Given the description of an element on the screen output the (x, y) to click on. 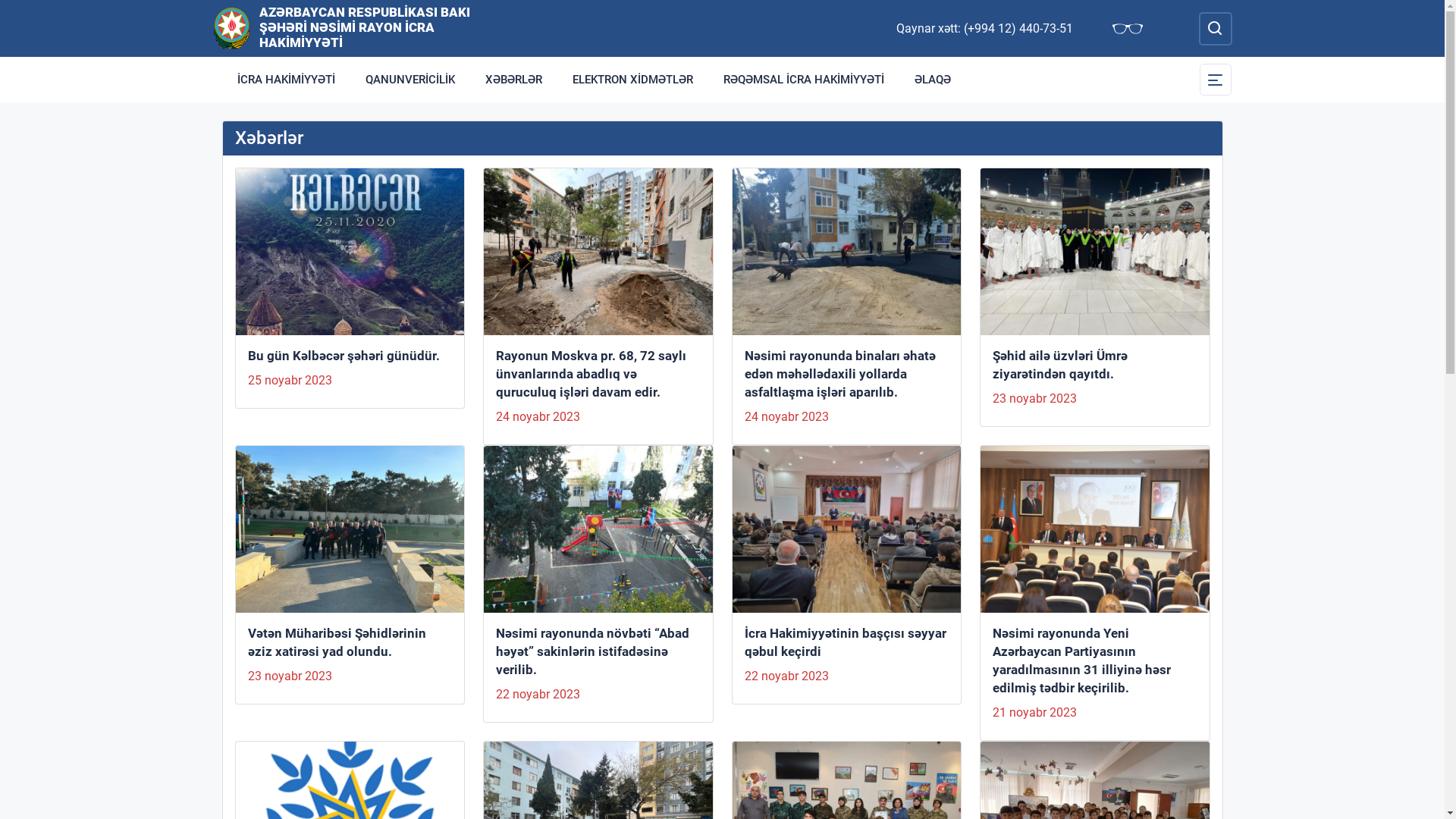
QANUNVERICILIK Element type: text (410, 79)
